Given the description of an element on the screen output the (x, y) to click on. 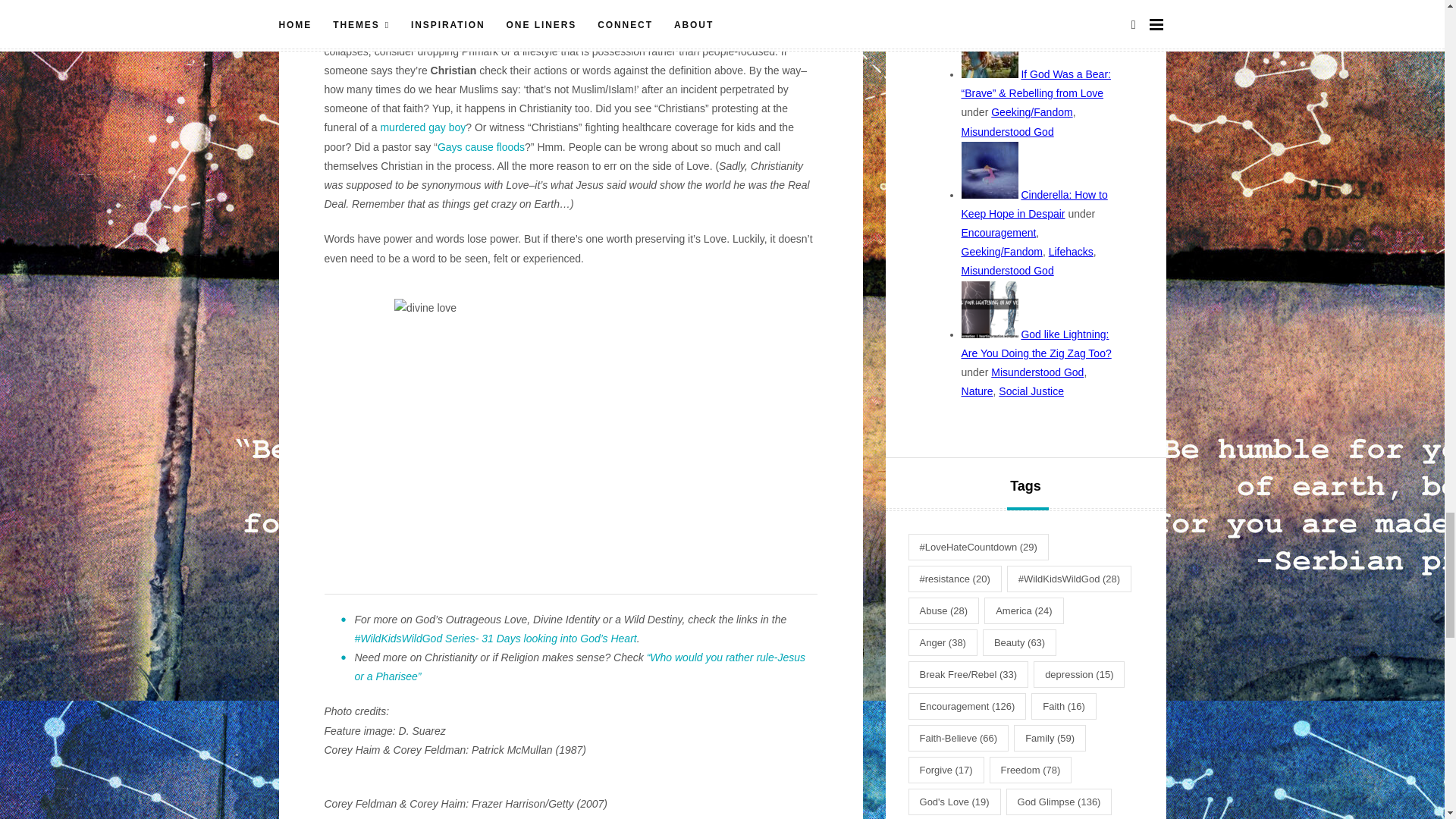
murdered gay boy (422, 127)
Gays cause floods (481, 146)
